Given the description of an element on the screen output the (x, y) to click on. 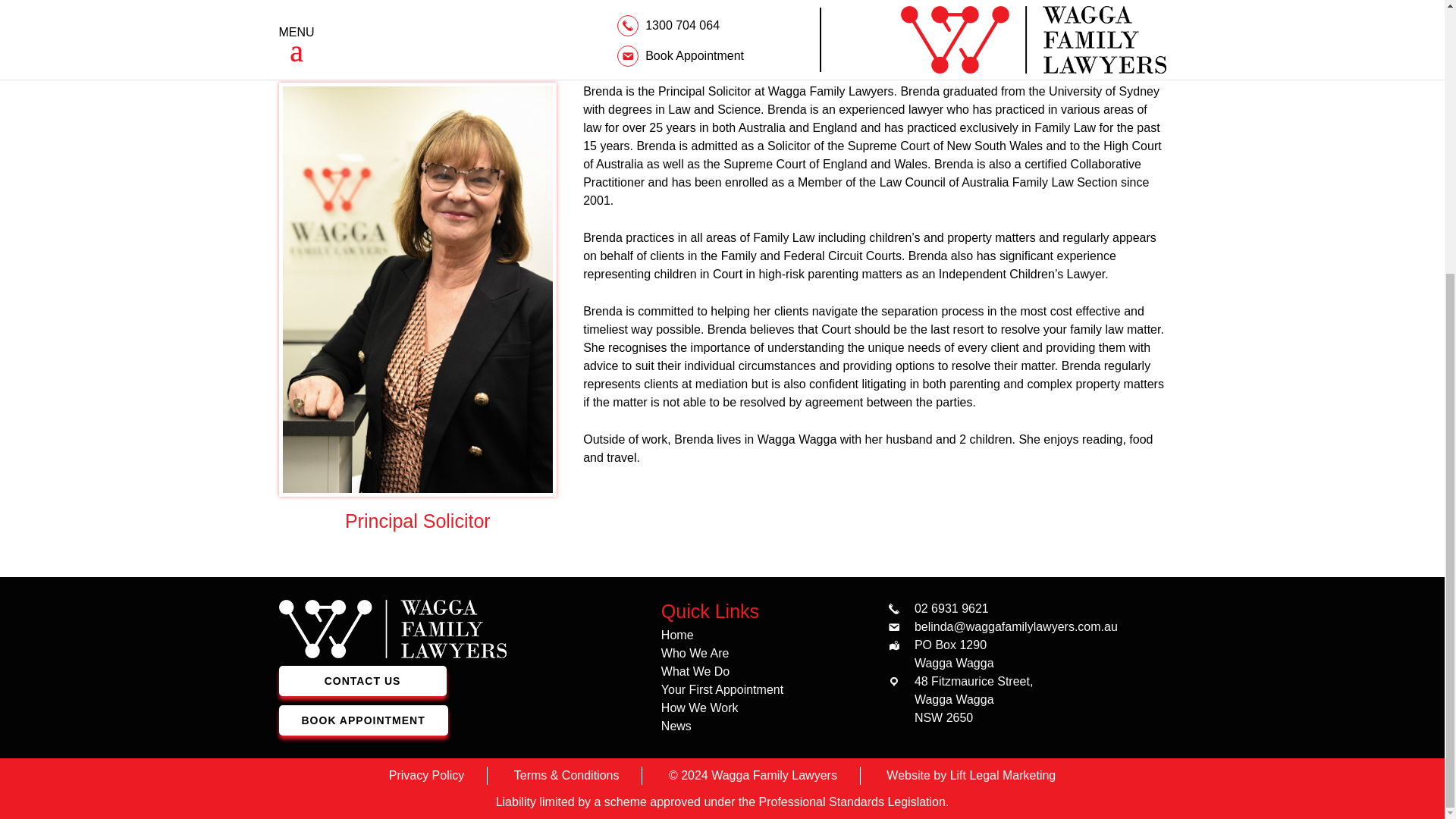
Lift Legal Marketing (1003, 775)
Privacy Policy (426, 775)
Who We Are (695, 653)
CONTACT US (362, 680)
How We Work (699, 707)
Your First Appointment (722, 689)
BOOK APPOINTMENT (363, 720)
Home (677, 634)
News (676, 725)
What We Do (695, 671)
